Given the description of an element on the screen output the (x, y) to click on. 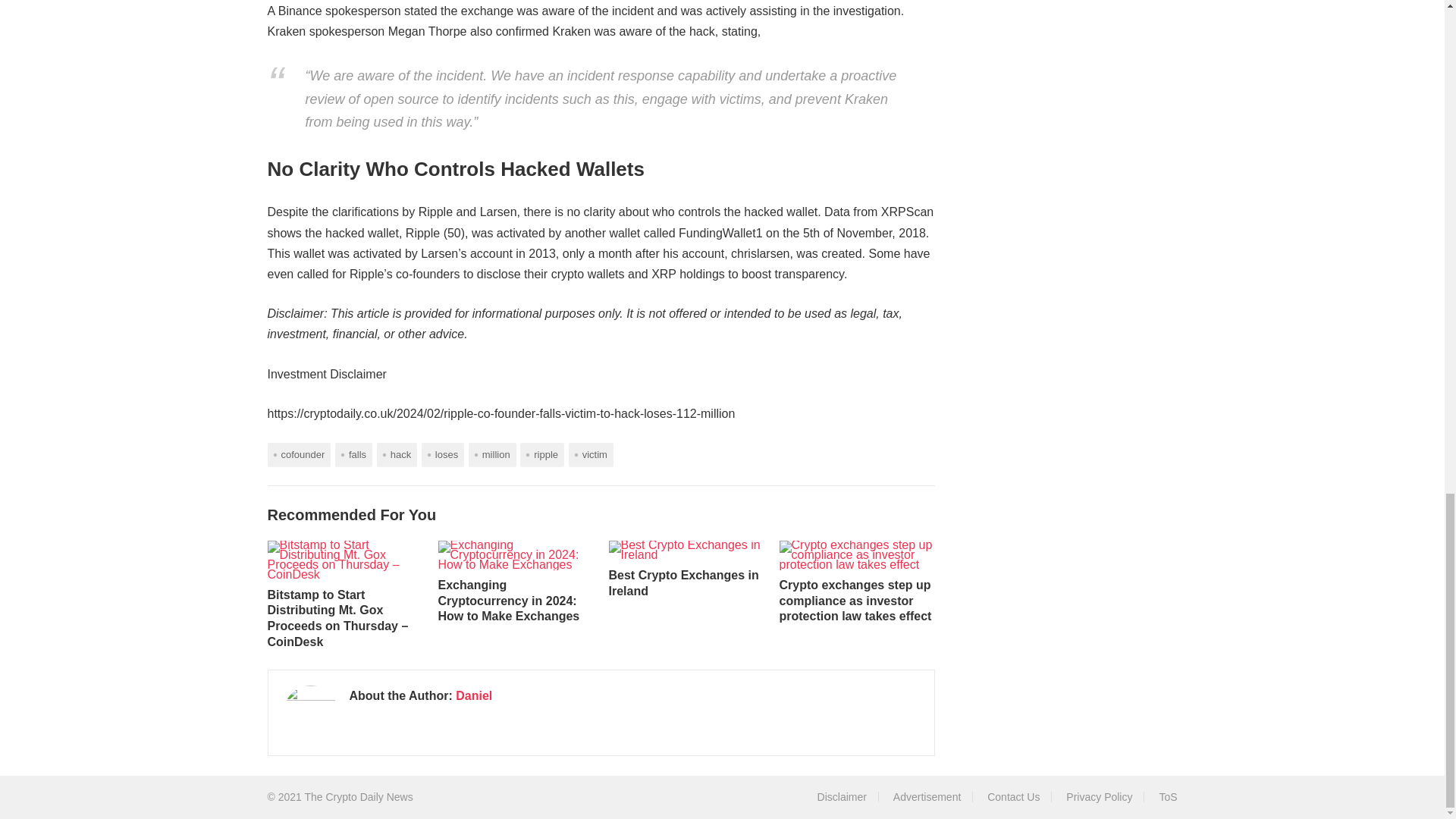
Exchanging Cryptocurrency in 2024: How to Make Exchanges (516, 554)
victim (590, 454)
falls (353, 454)
Best Crypto Exchanges in Ireland (685, 550)
hack (396, 454)
cofounder (298, 454)
loses (443, 454)
ripple (541, 454)
million (492, 454)
